Given the description of an element on the screen output the (x, y) to click on. 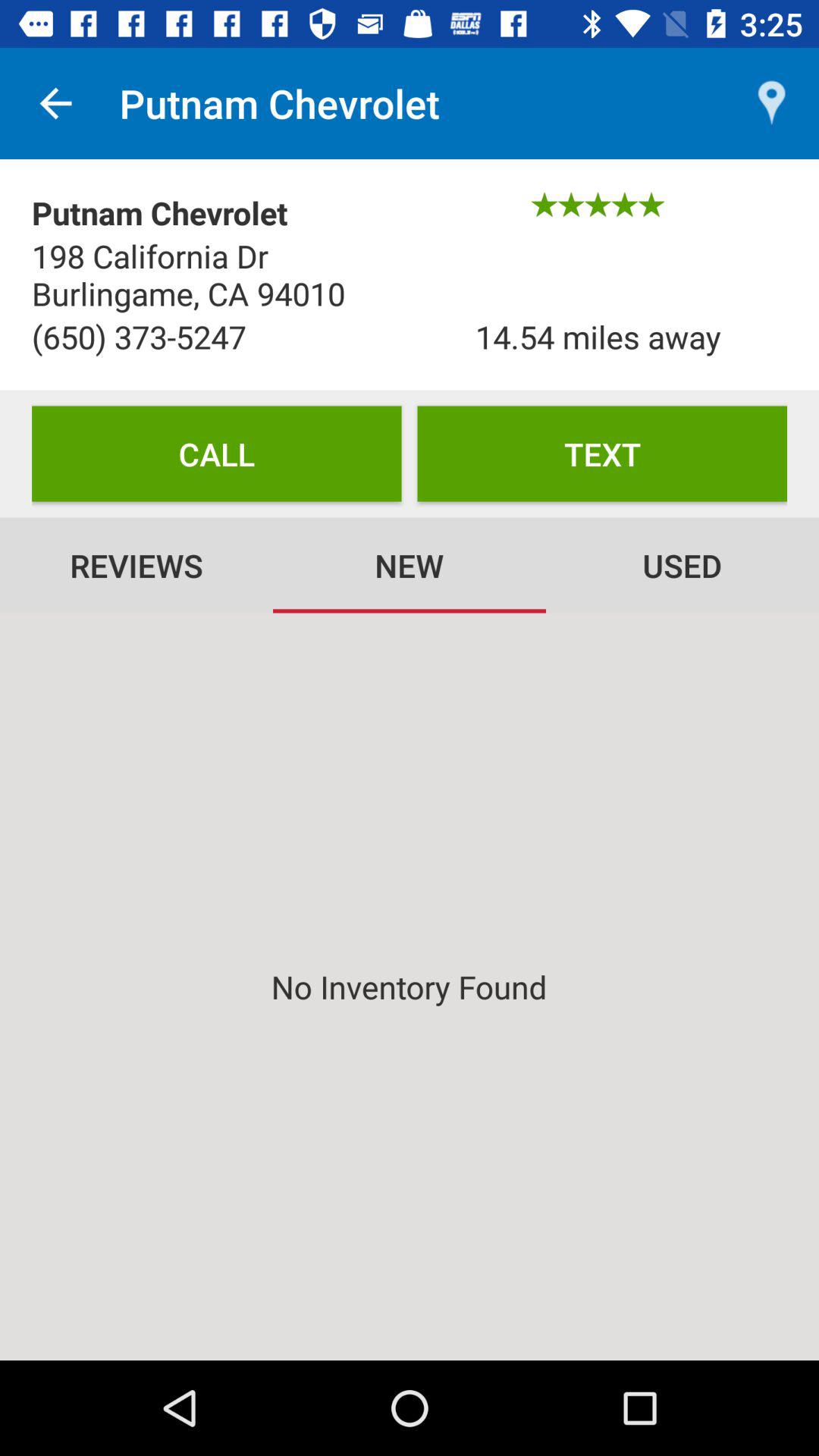
turn off icon to the right of the putnam chevrolet item (771, 103)
